Given the description of an element on the screen output the (x, y) to click on. 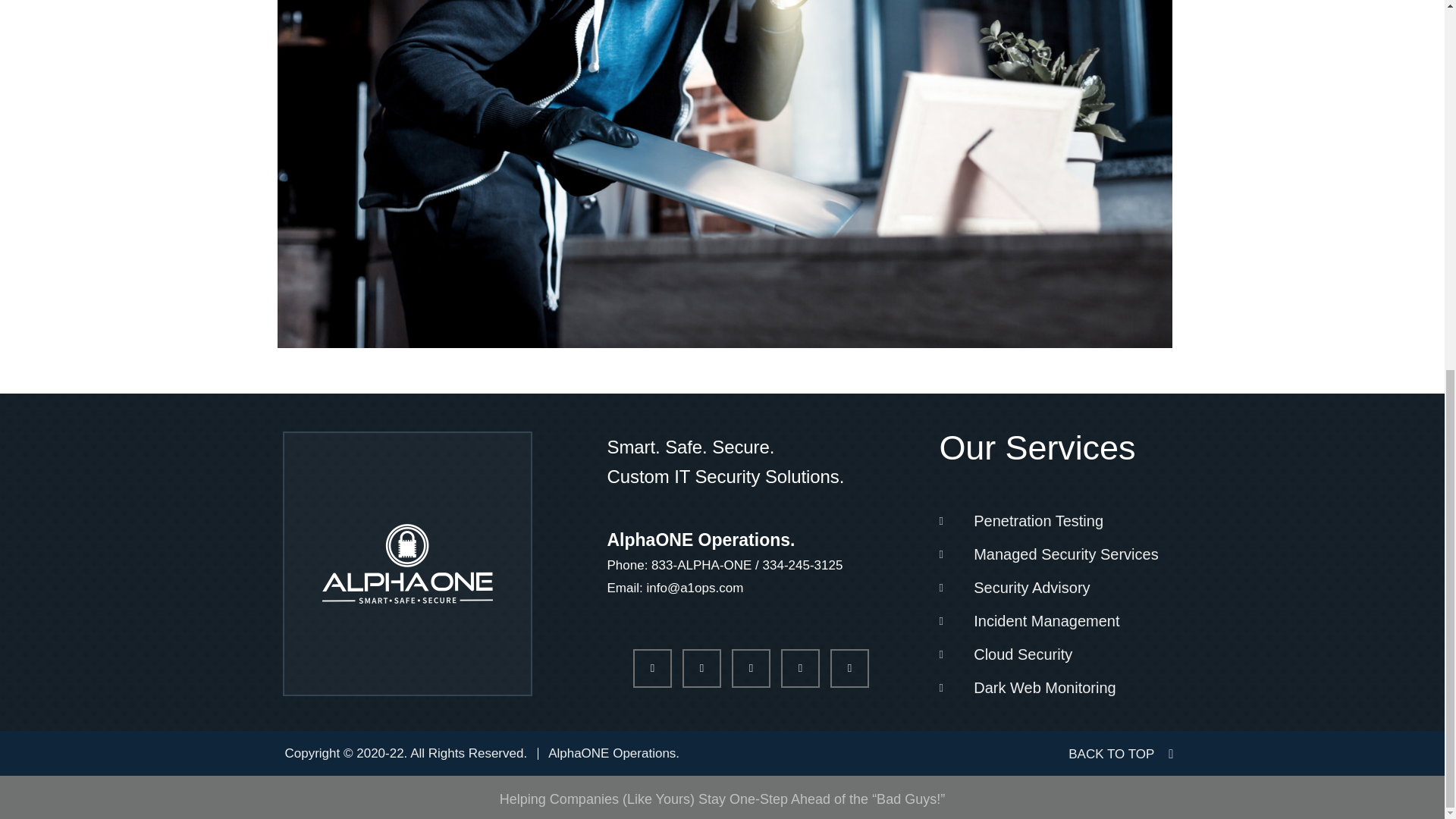
Incident Management (1054, 621)
Penetration Testing (1054, 520)
AlphaONE Operations. (613, 752)
Cloud Security (1054, 654)
Dark Web Monitoring (1054, 687)
Security Advisory (1054, 587)
Managed Security Services (1054, 553)
Our Services (1037, 447)
BACK TO TOP (1120, 753)
